Given the description of an element on the screen output the (x, y) to click on. 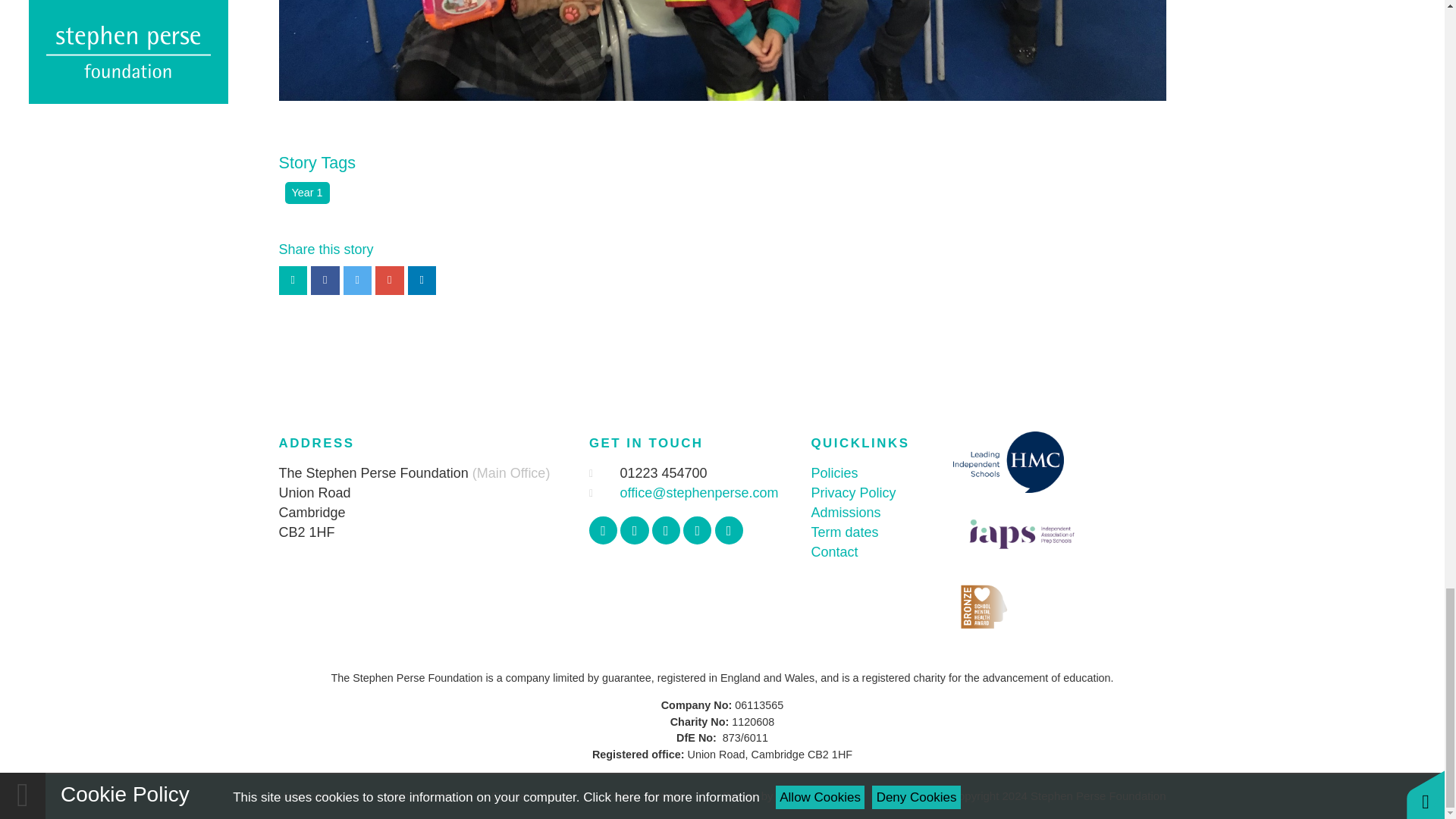
Facebook (603, 530)
LinkedIn (728, 530)
Cookie Settings (644, 795)
Twitter (633, 530)
YouTube (696, 530)
Instagram (665, 530)
